Given the description of an element on the screen output the (x, y) to click on. 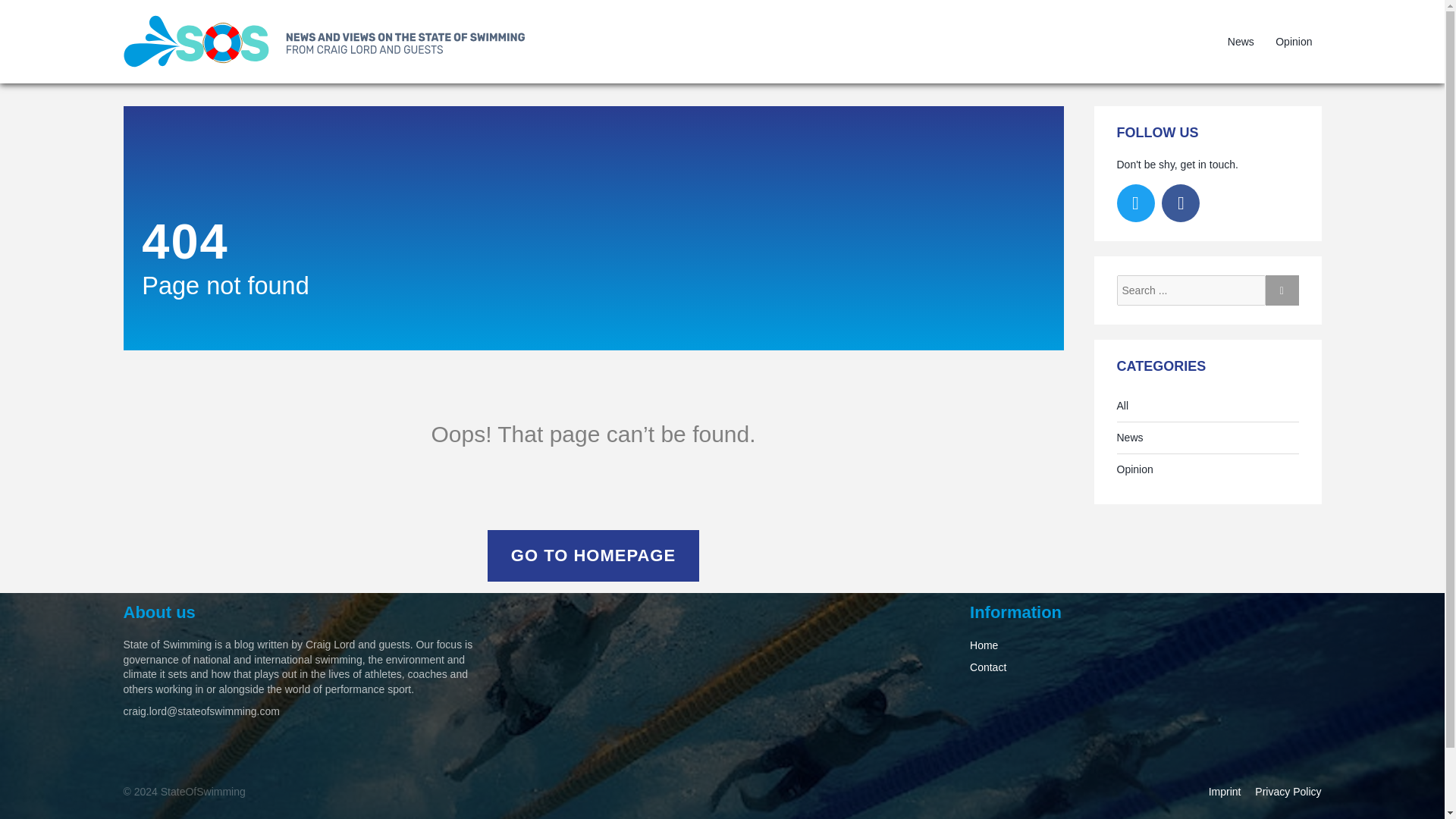
GO TO HOMEPAGE (592, 555)
Opinion (1293, 40)
News (1240, 40)
Home (983, 645)
Opinion (1134, 469)
Homepage (331, 41)
Contact (987, 666)
